Given the description of an element on the screen output the (x, y) to click on. 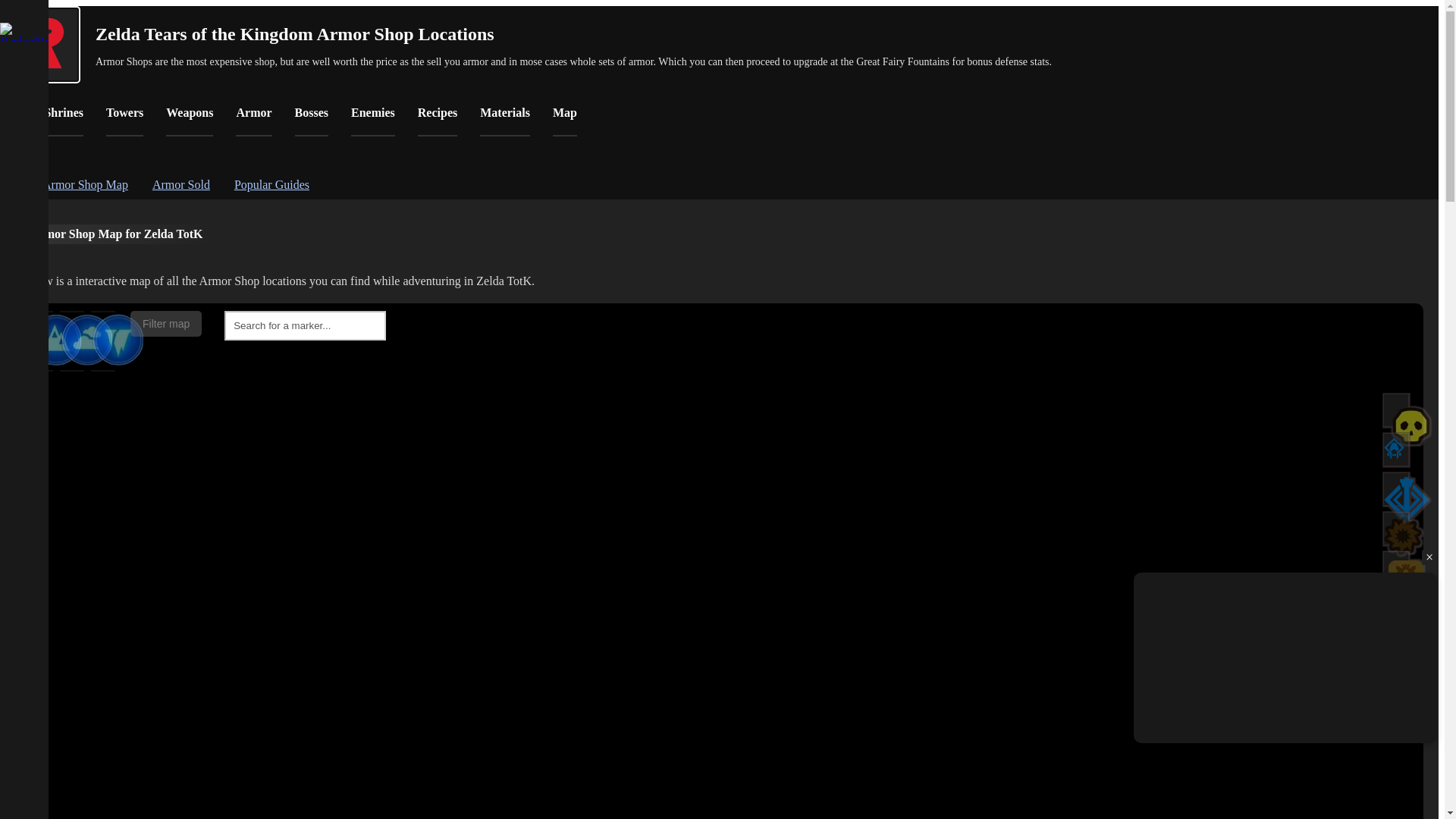
Bosses (312, 121)
Popular Guides (271, 184)
Enemies (372, 121)
Materials (504, 121)
Armor Shop Map (84, 184)
Towers (124, 121)
Armor Sold (180, 184)
Recipes (437, 121)
Weapons (188, 121)
Shrines (62, 121)
Armor (252, 121)
Armor Shop Map (84, 184)
Filter map (166, 323)
Popular Guides (271, 184)
Armor Sold (180, 184)
